Given the description of an element on the screen output the (x, y) to click on. 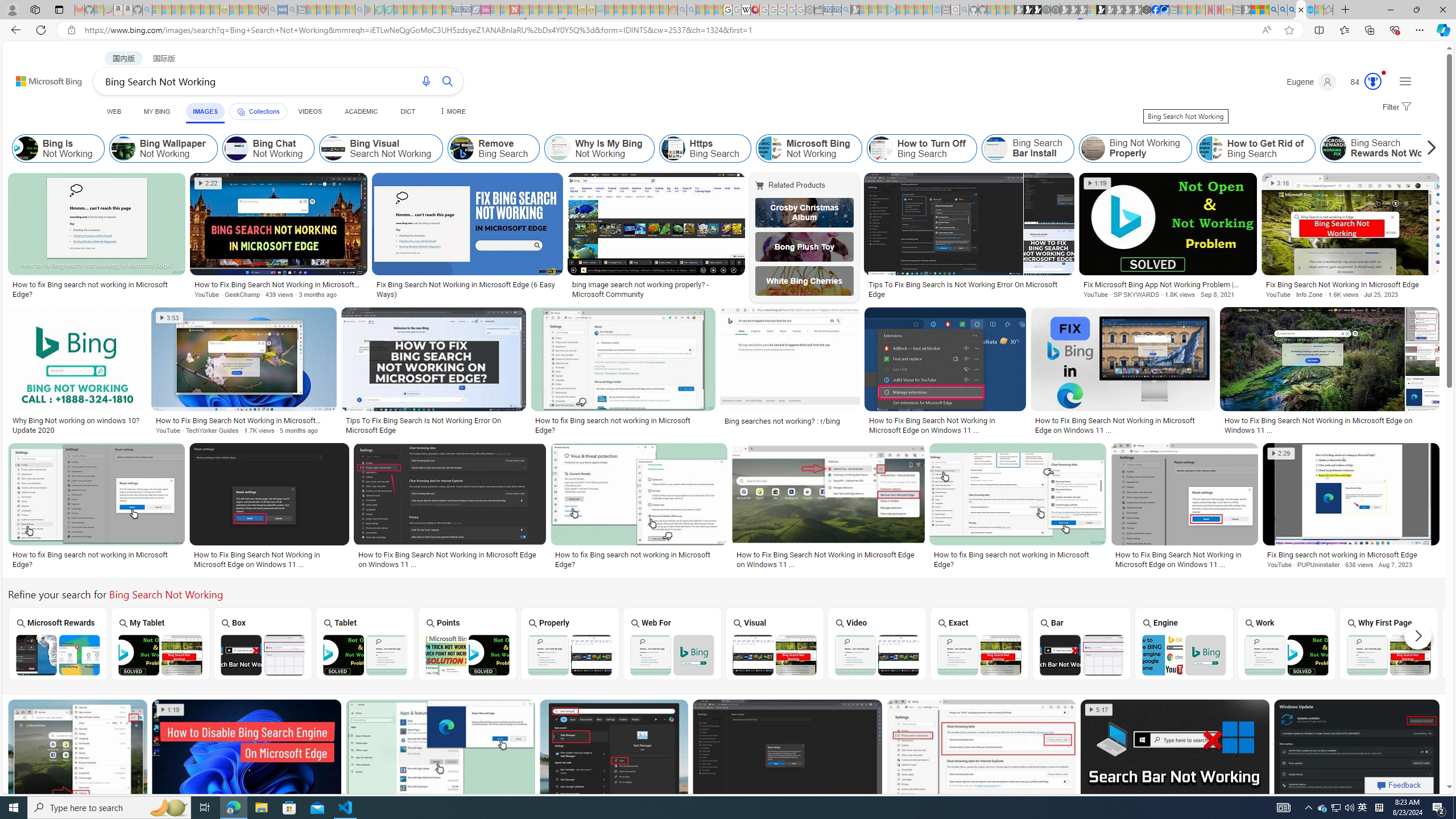
2009 Bing officially replaced Live Search on June 3 - Search (1283, 9)
Bing Not Working Properly (1092, 148)
Properly (569, 643)
Tablet (364, 643)
Scroll more suggestions right (1418, 635)
